Given the description of an element on the screen output the (x, y) to click on. 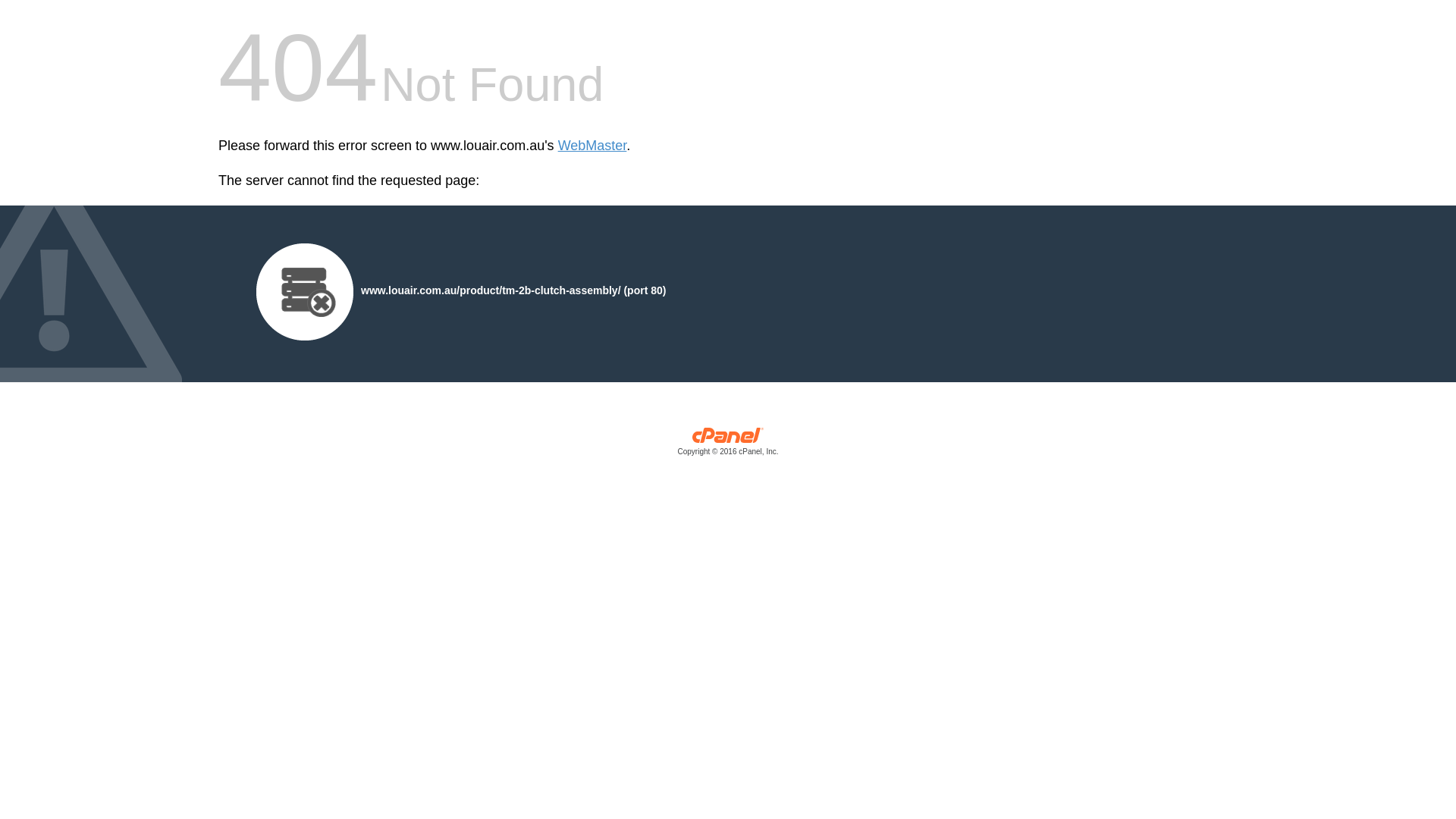
WebMaster Element type: text (592, 145)
